Given the description of an element on the screen output the (x, y) to click on. 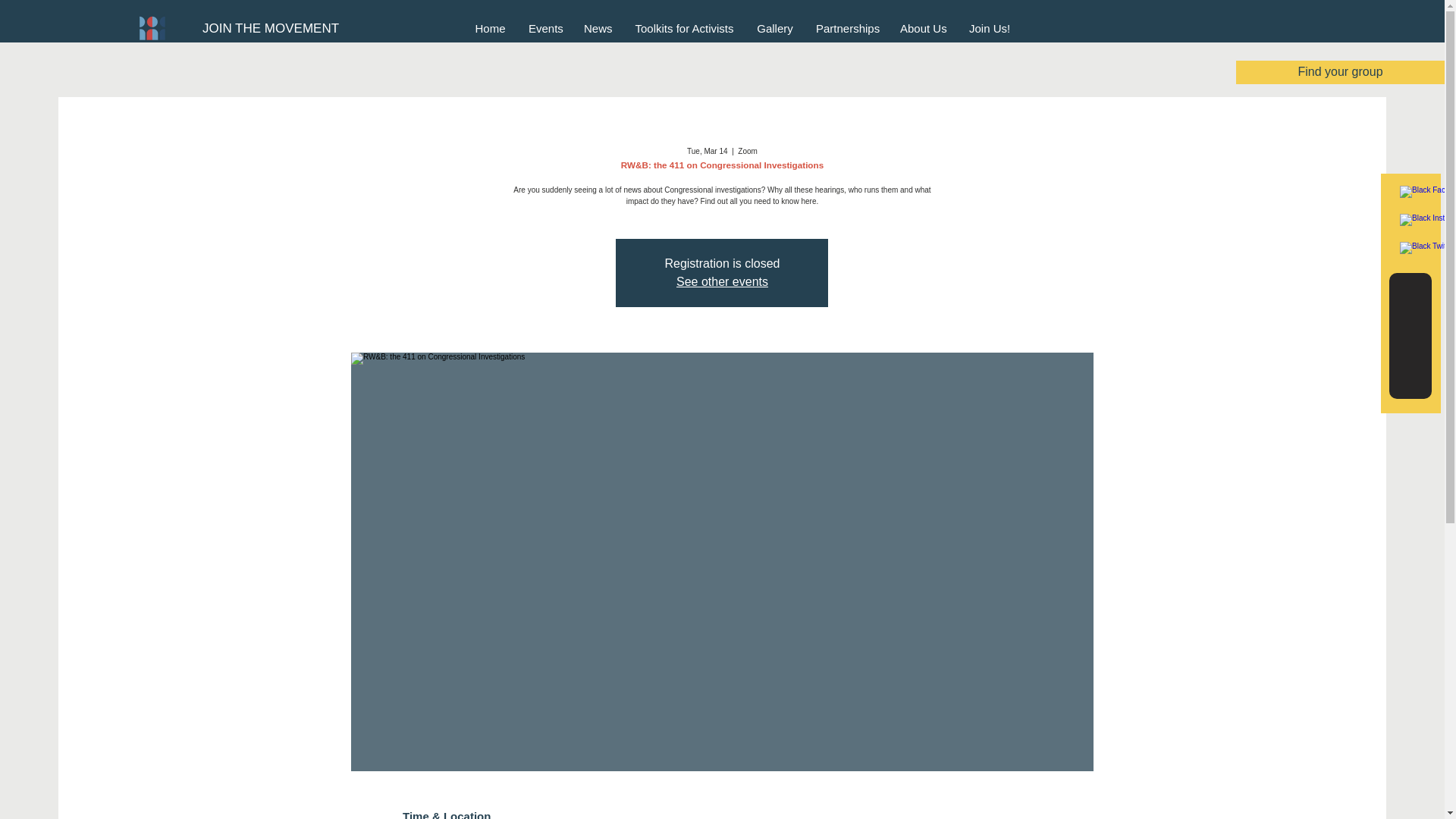
Home (489, 28)
Toolkits for Activists (684, 28)
Events (544, 28)
News (597, 28)
Partnerships (846, 28)
See other events (722, 281)
Gallery (775, 28)
Join Us! (990, 28)
About Us (923, 28)
